Given the description of an element on the screen output the (x, y) to click on. 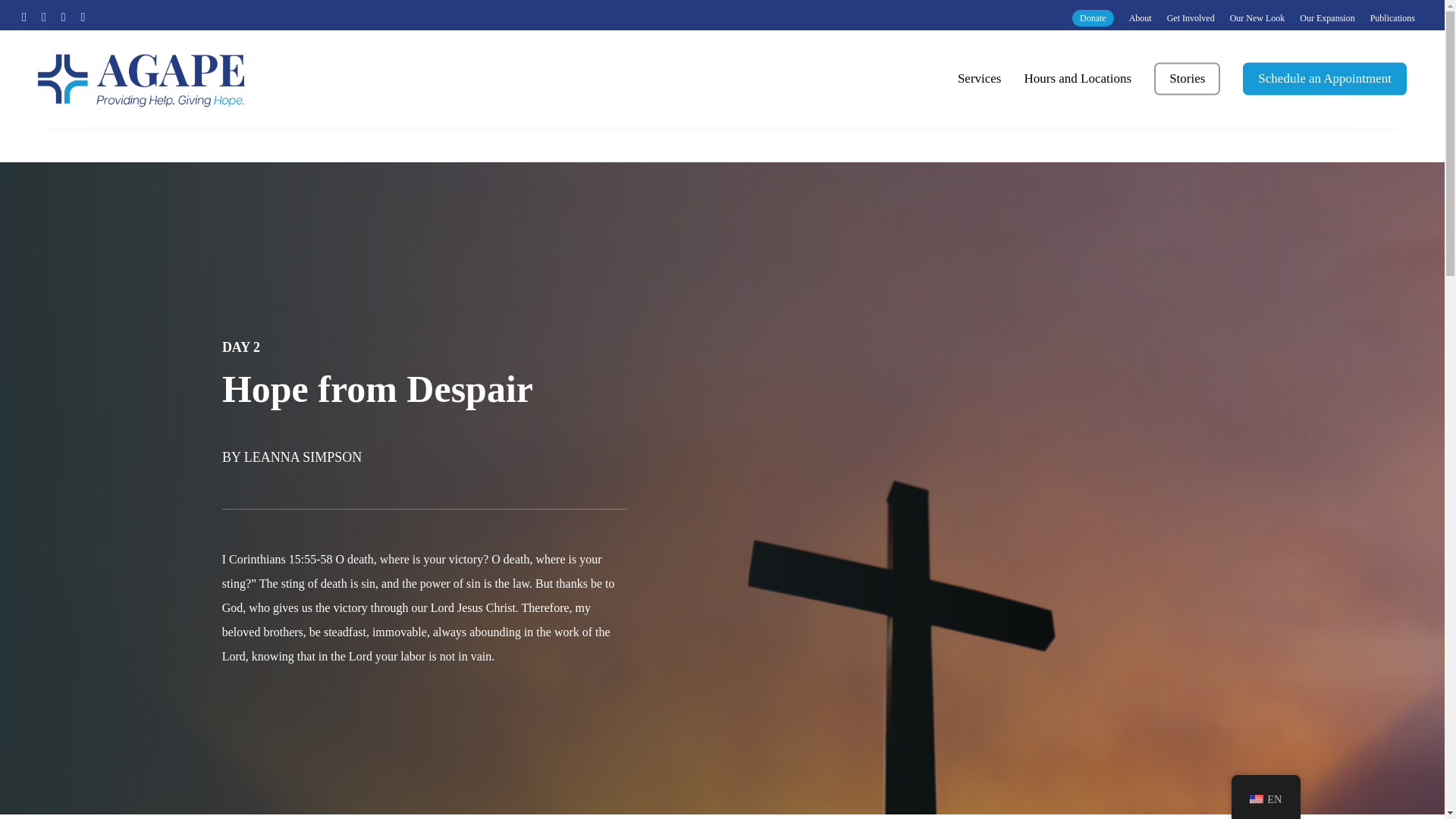
About (1140, 17)
Donate (1093, 17)
Publications (1392, 17)
Our Expansion (1327, 17)
Our New Look (1257, 17)
Get Involved (1190, 17)
English (1256, 798)
